Given the description of an element on the screen output the (x, y) to click on. 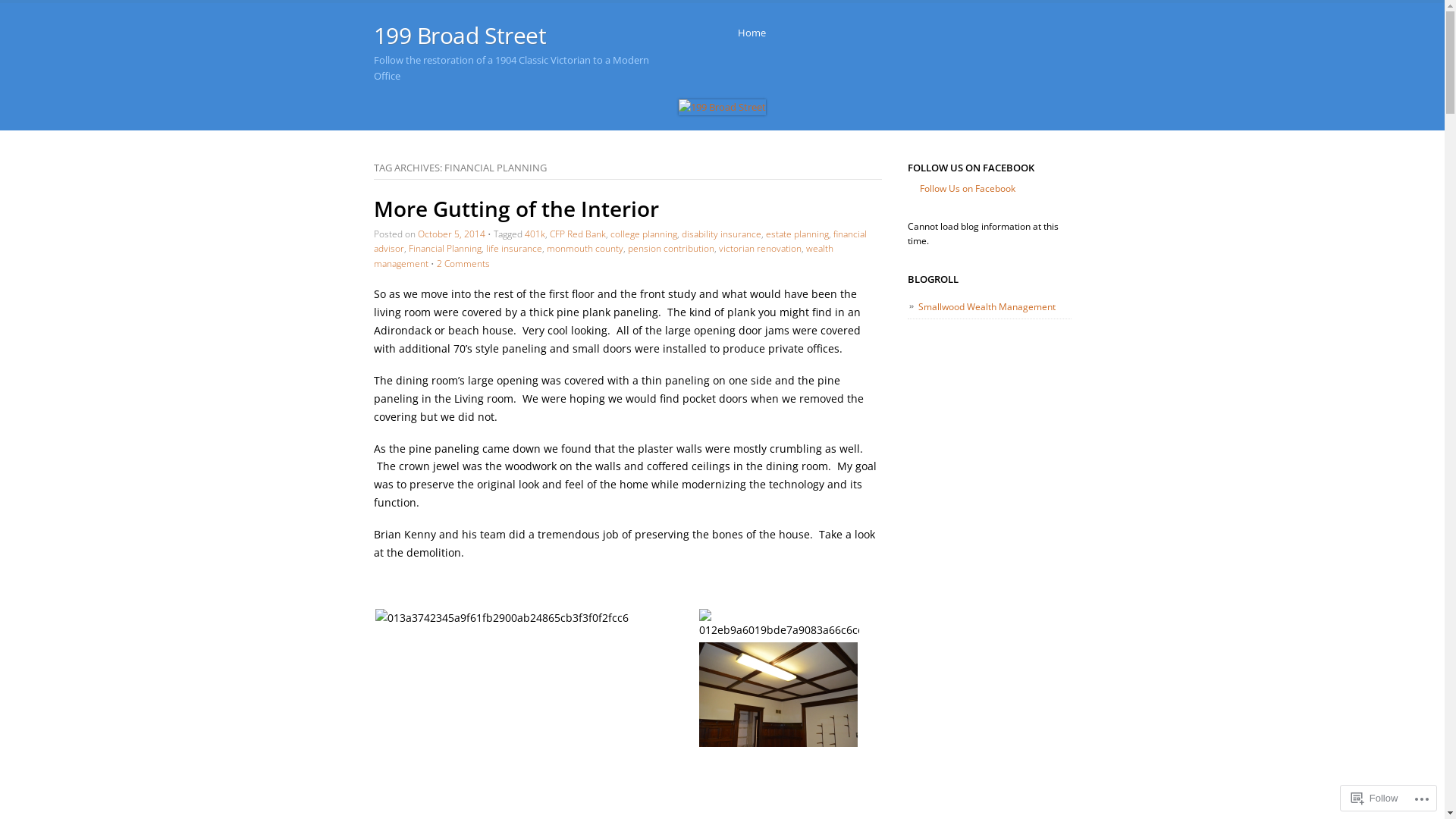
Home Element type: text (751, 33)
012eb9a6019bde7a9083a66c6cec85d66037ab27db_00001 Element type: hover (779, 623)
Skip to content Element type: text (756, 33)
2 Comments Element type: text (462, 263)
Follow Element type: text (1374, 797)
01d2ec993647c289f03094b3cc86c0107a67fa8c45 Element type: hover (778, 694)
013a3742345a9f61fb2900ab24865cb3f3f0f2fcc6 Element type: hover (500, 617)
estate planning Element type: text (796, 233)
pension contribution Element type: text (670, 247)
Smallwood Wealth Management Element type: text (986, 306)
199 Broad Street Element type: text (459, 34)
FOLLOW US ON FACEBOOK Element type: text (970, 167)
monmouth county Element type: text (584, 247)
life insurance Element type: text (513, 247)
wealth management Element type: text (602, 255)
Follow Us on Facebook Element type: text (967, 188)
October 5, 2014 Element type: text (450, 233)
401k Element type: text (534, 233)
More Gutting of the Interior Element type: text (515, 208)
college planning Element type: text (642, 233)
financial advisor Element type: text (619, 241)
disability insurance Element type: text (720, 233)
victorian renovation Element type: text (759, 247)
Financial Planning Element type: text (443, 247)
CFP Red Bank Element type: text (577, 233)
